Given the description of an element on the screen output the (x, y) to click on. 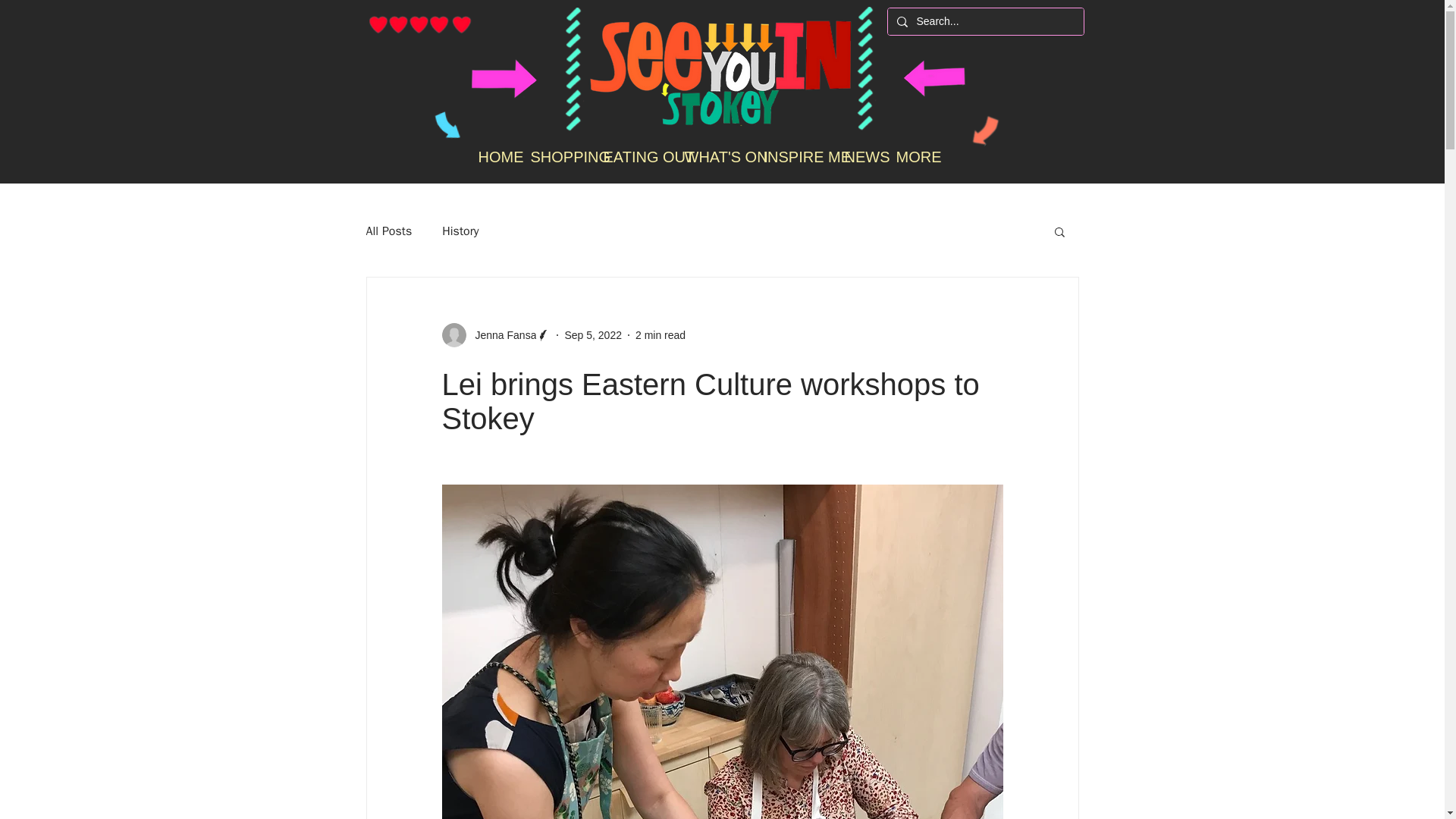
All Posts (388, 230)
INSPIRE ME (791, 157)
Jenna Fansa (500, 335)
2 min read (659, 335)
SHOPPING (554, 157)
WHAT'S ON (711, 157)
NEWS (857, 157)
EATING OUT (631, 157)
History (460, 230)
HOME (491, 157)
